Given the description of an element on the screen output the (x, y) to click on. 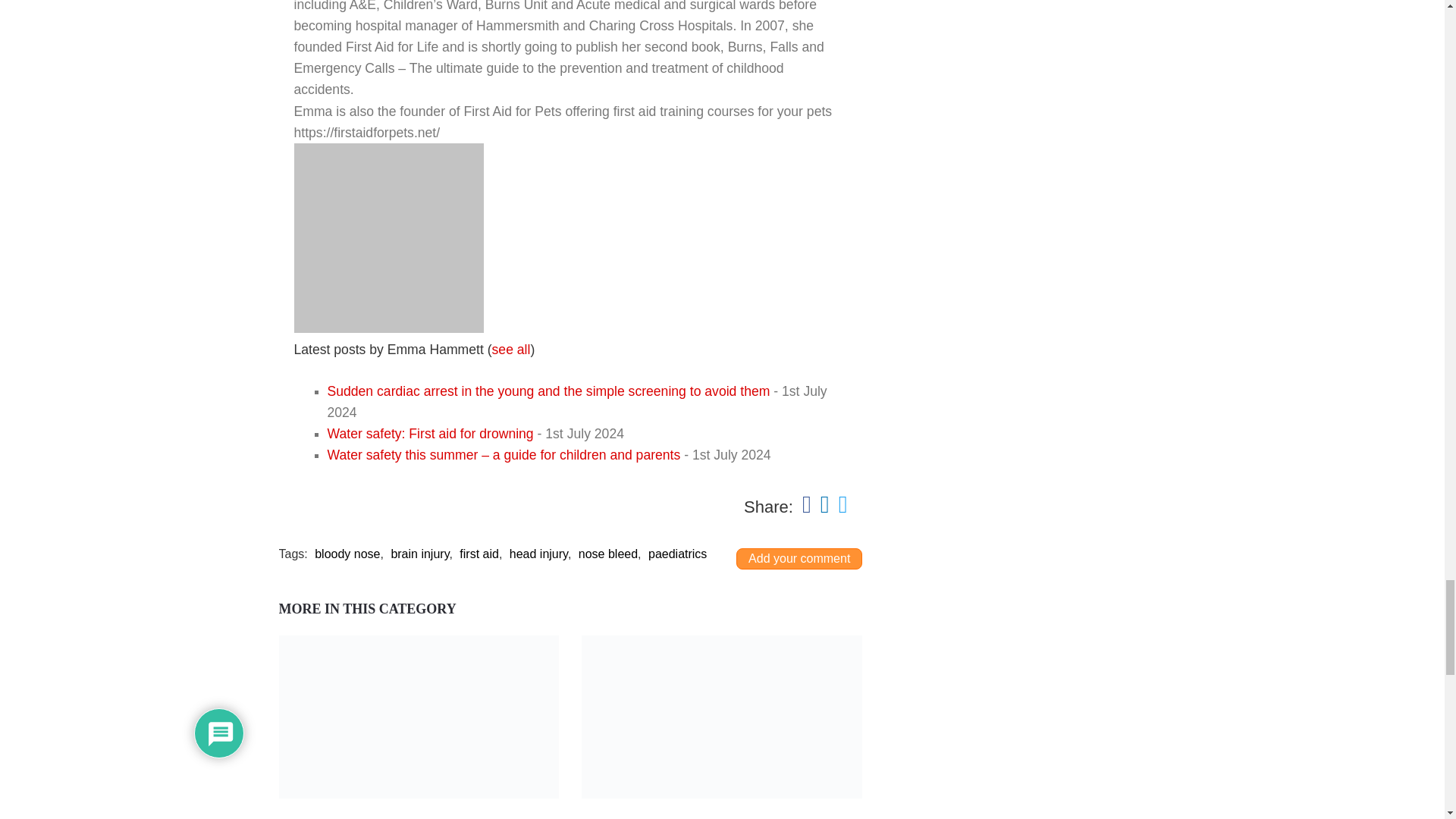
Emma Hammett (388, 328)
